Given the description of an element on the screen output the (x, y) to click on. 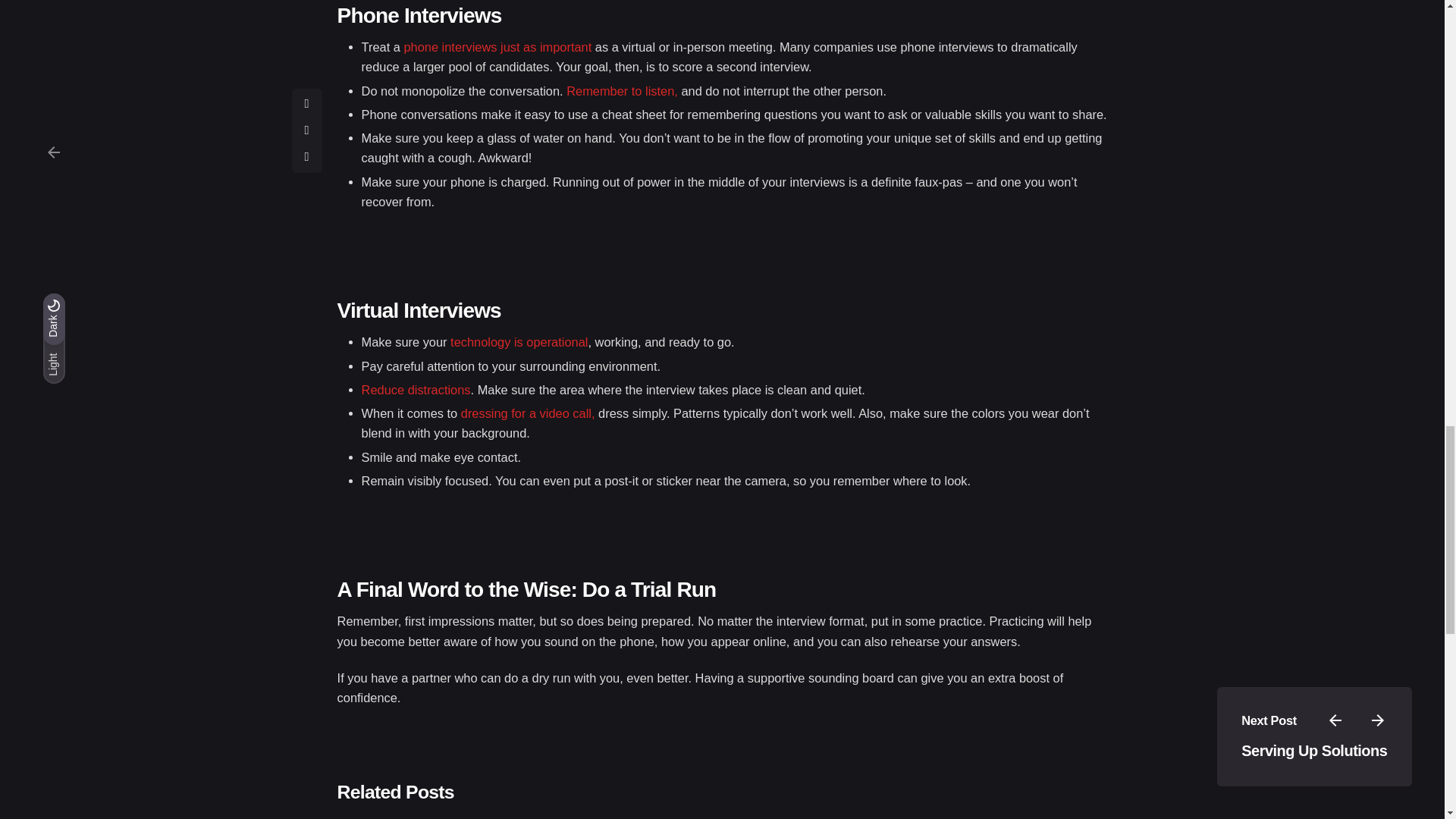
Reduce distractions (415, 389)
dressing for a video call, (528, 413)
technology is operational (518, 341)
Remember to listen, (622, 90)
phone interviews just as important (497, 47)
